Given the description of an element on the screen output the (x, y) to click on. 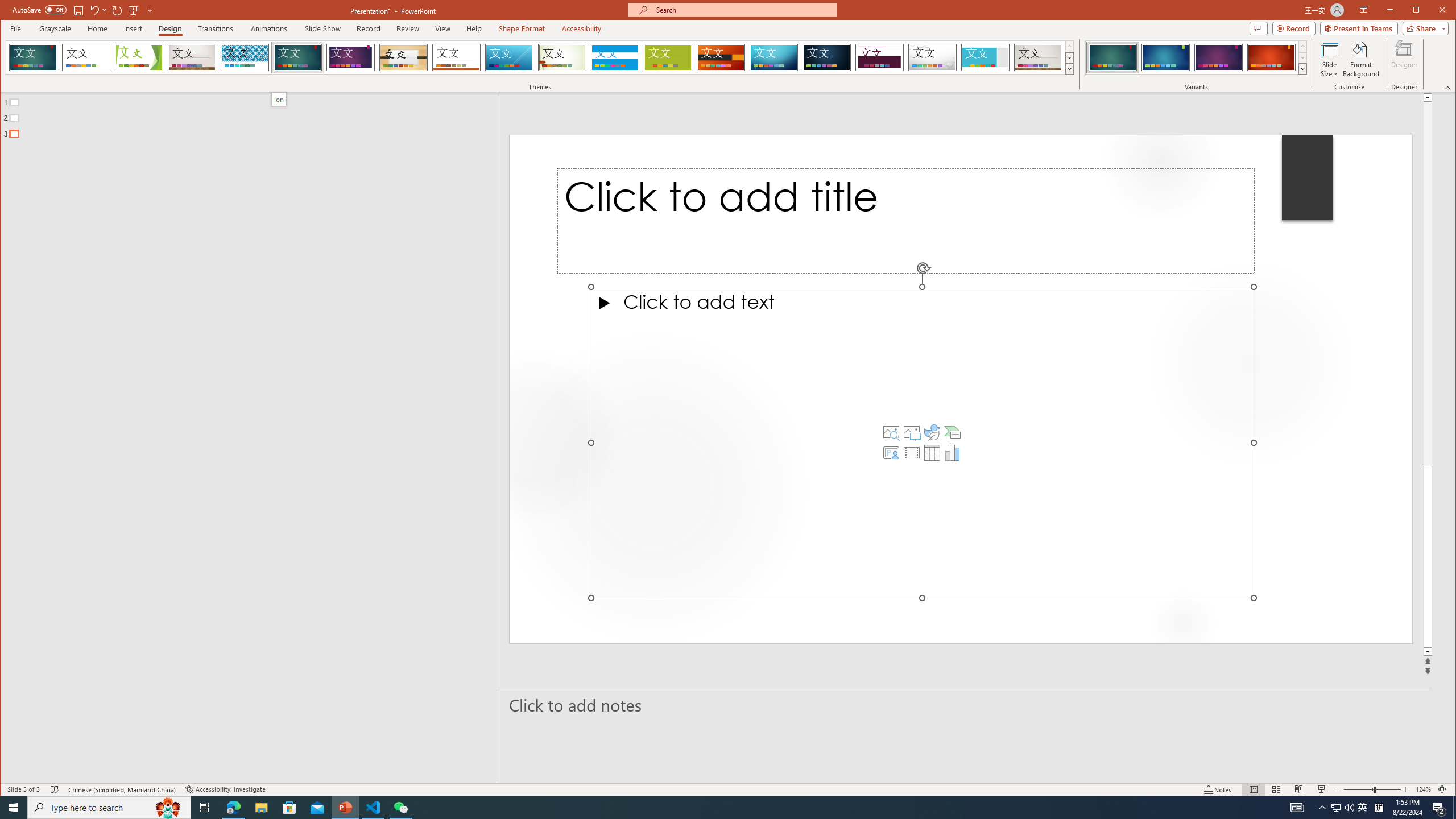
Slice (509, 57)
Running applications (707, 807)
Shape Format (521, 28)
Title TextBox (906, 220)
Ion Variant 1 (1112, 57)
Grayscale (55, 28)
